Given the description of an element on the screen output the (x, y) to click on. 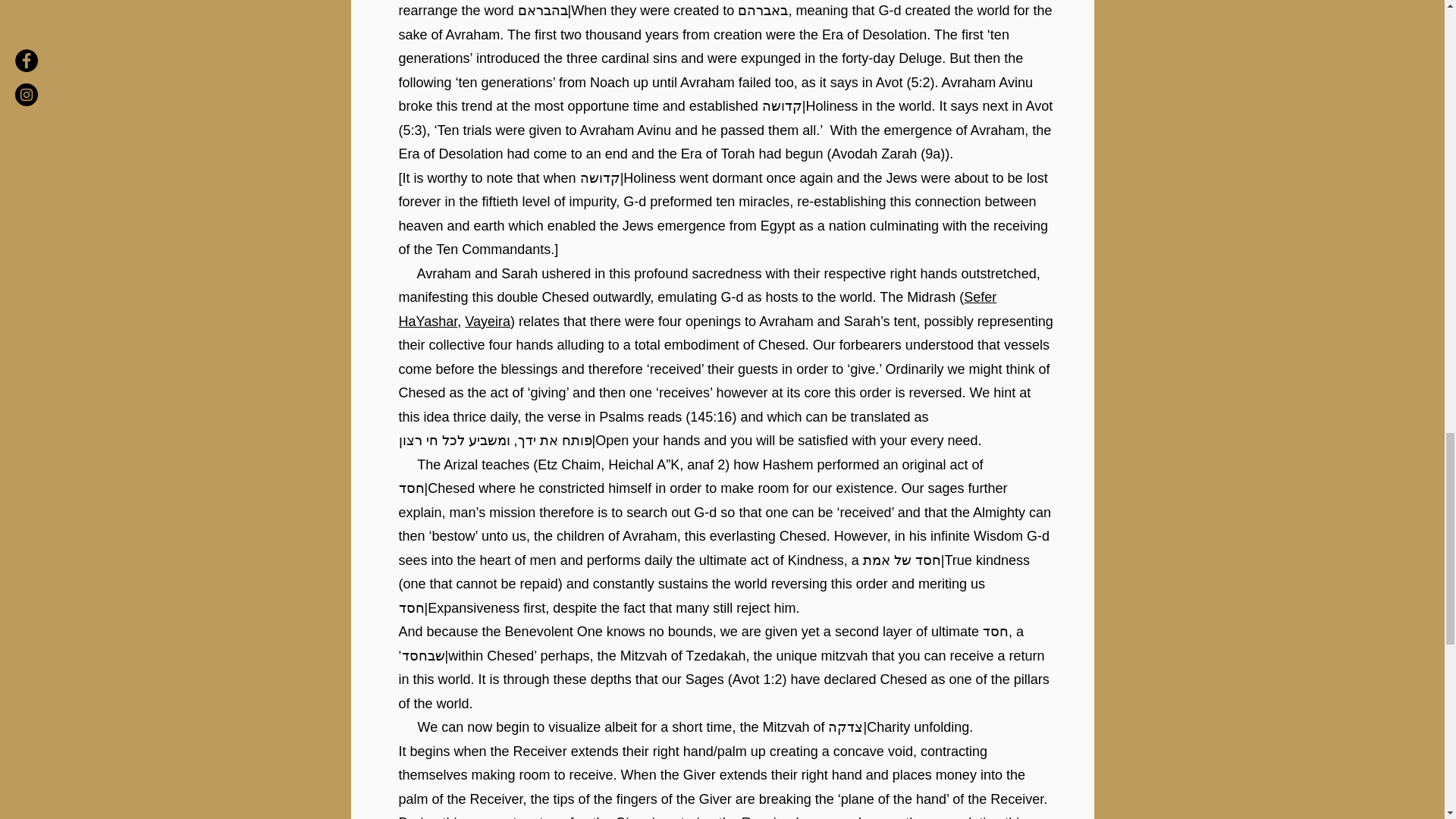
Vayeira (487, 321)
Sefer HaYashar (697, 309)
